Given the description of an element on the screen output the (x, y) to click on. 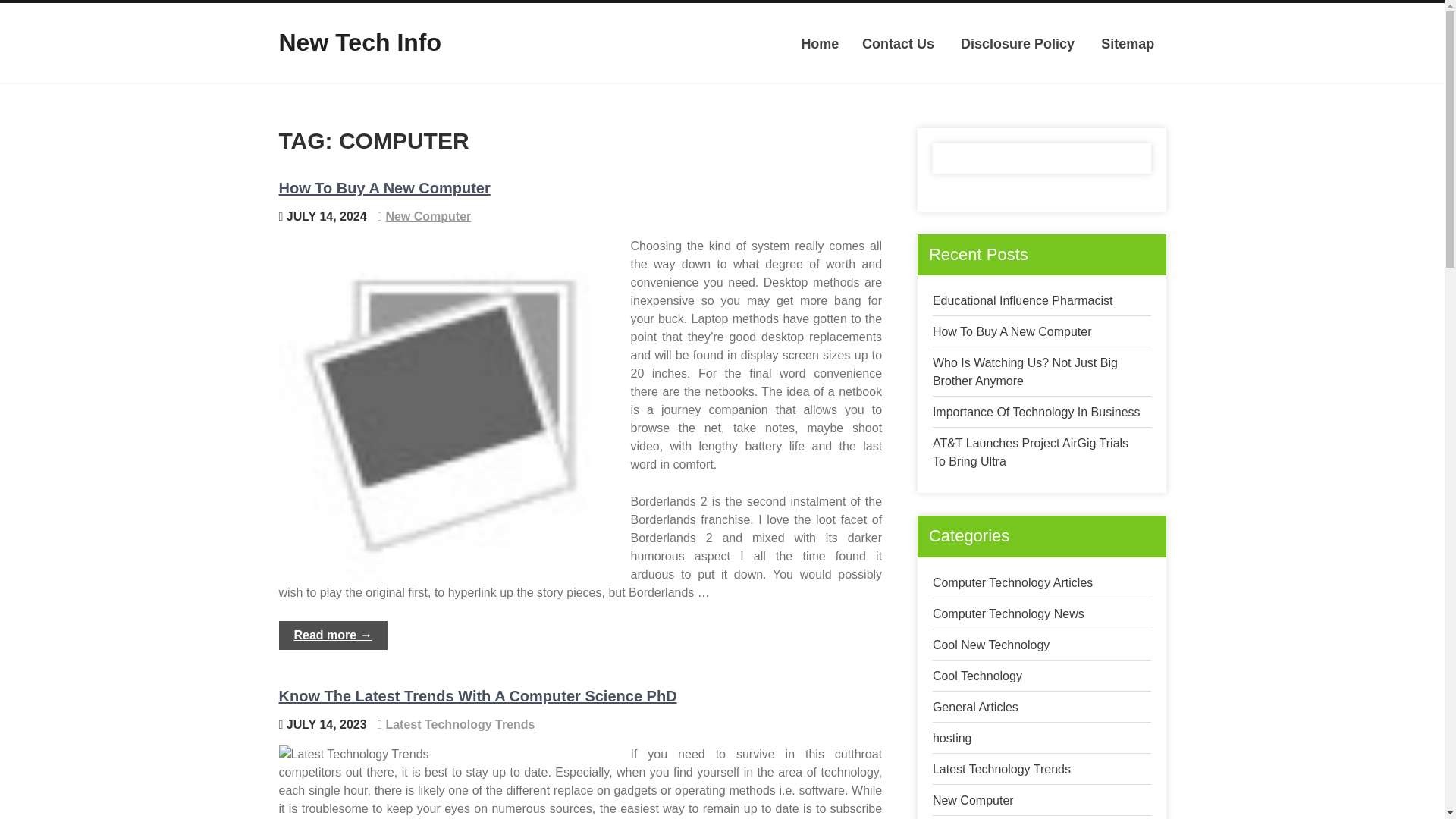
New Computer (427, 215)
Cool Technology (977, 675)
Contact Us (898, 44)
Know The Latest Trends With A Computer Science PhD (478, 695)
Sitemap (1127, 44)
Home (819, 44)
Who Is Watching Us? Not Just Big Brother Anymore (1025, 371)
Latest Technology Trends (1001, 768)
Latest Technology Trends (459, 724)
hosting (952, 738)
New Computer (973, 799)
Computer Technology News (1008, 613)
General Articles (975, 707)
Importance Of Technology In Business (1036, 411)
Cool New Technology (991, 644)
